Given the description of an element on the screen output the (x, y) to click on. 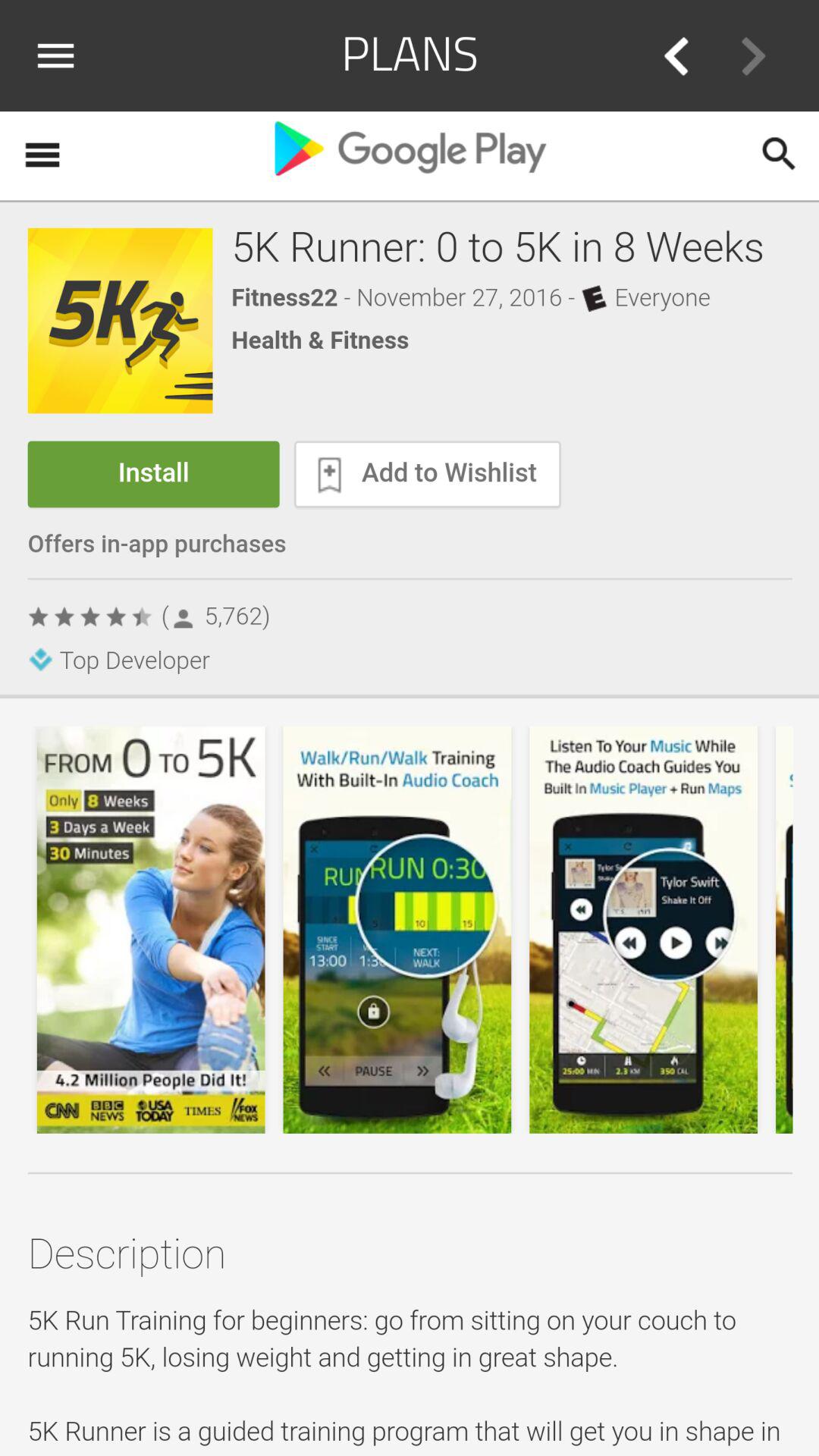
previews button (675, 55)
